Given the description of an element on the screen output the (x, y) to click on. 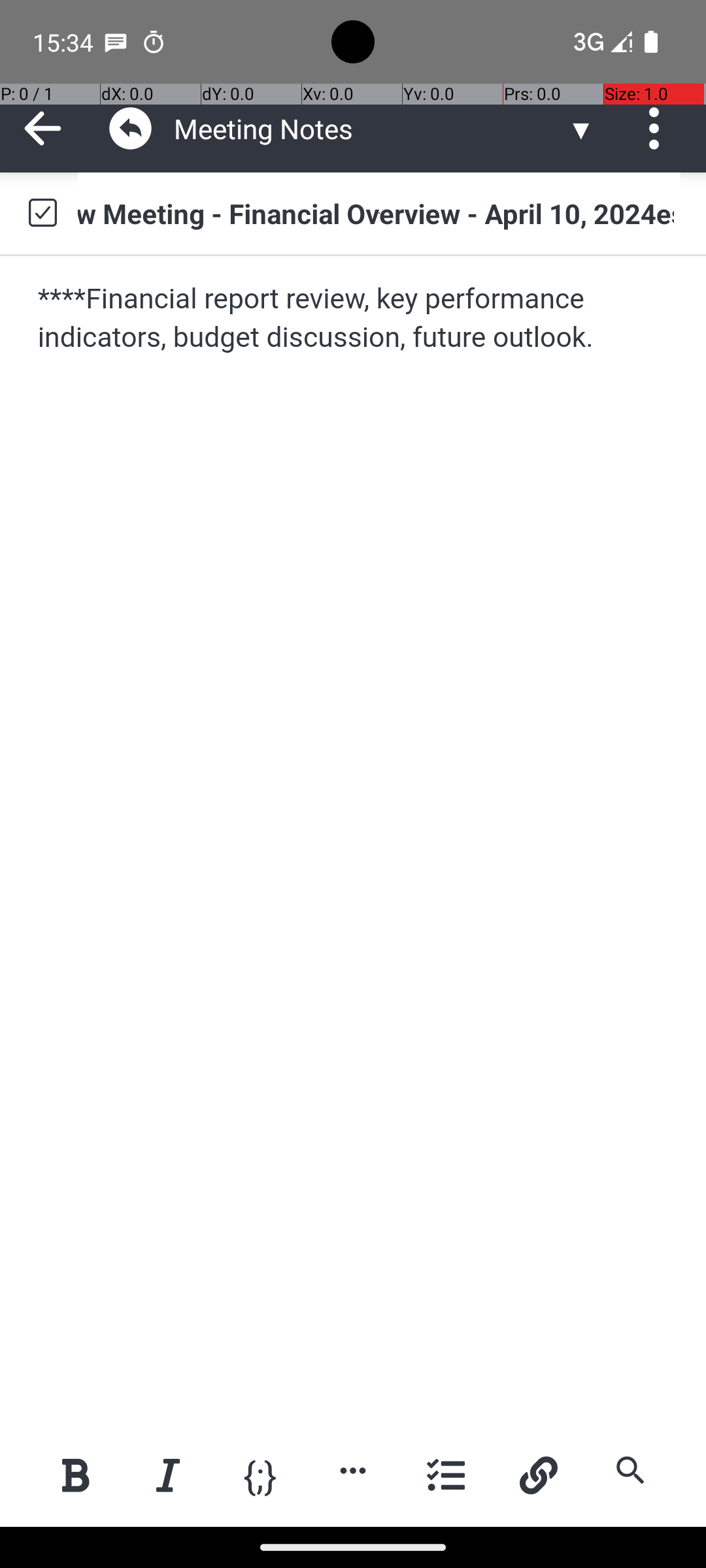
Board Meeting - Q1 Financial RQuarterly Review Meeting - Financial Overview - April 10, 2024esults - March 28, 2024 Element type: android.widget.EditText (378, 213)
****Financial report review, key performance indicators, budget discussion, future outlook. Element type: android.widget.EditText (354, 318)
